Given the description of an element on the screen output the (x, y) to click on. 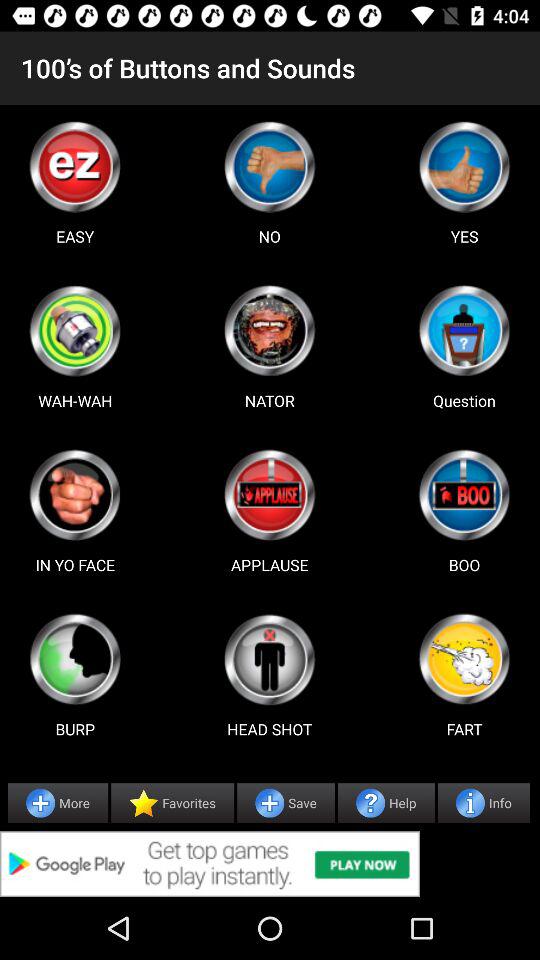
play boo (464, 495)
